Given the description of an element on the screen output the (x, y) to click on. 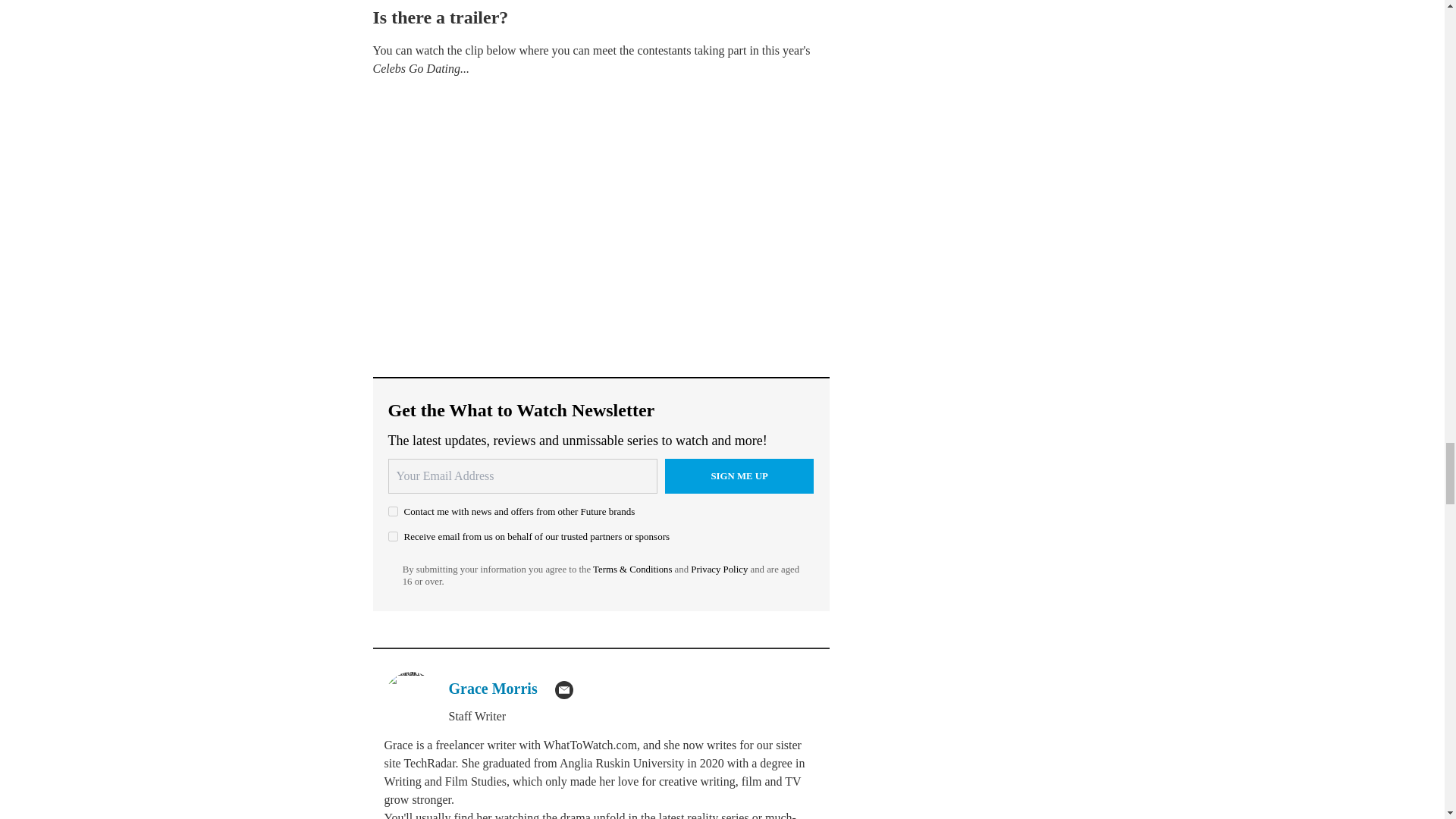
Sign me up (739, 475)
on (392, 511)
on (392, 536)
